Given the description of an element on the screen output the (x, y) to click on. 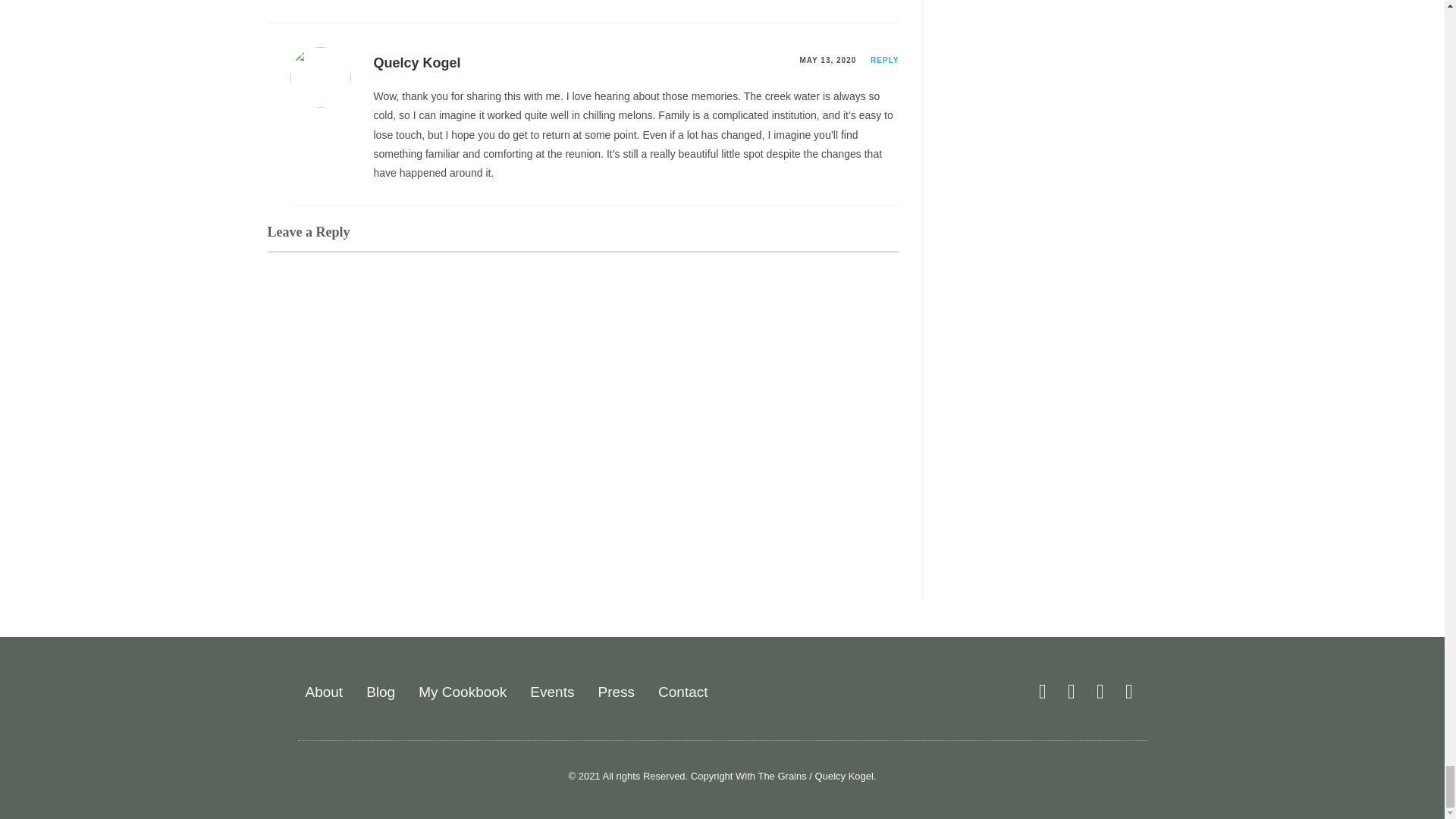
Quelcy Kogel (416, 62)
REPLY (884, 60)
